Given the description of an element on the screen output the (x, y) to click on. 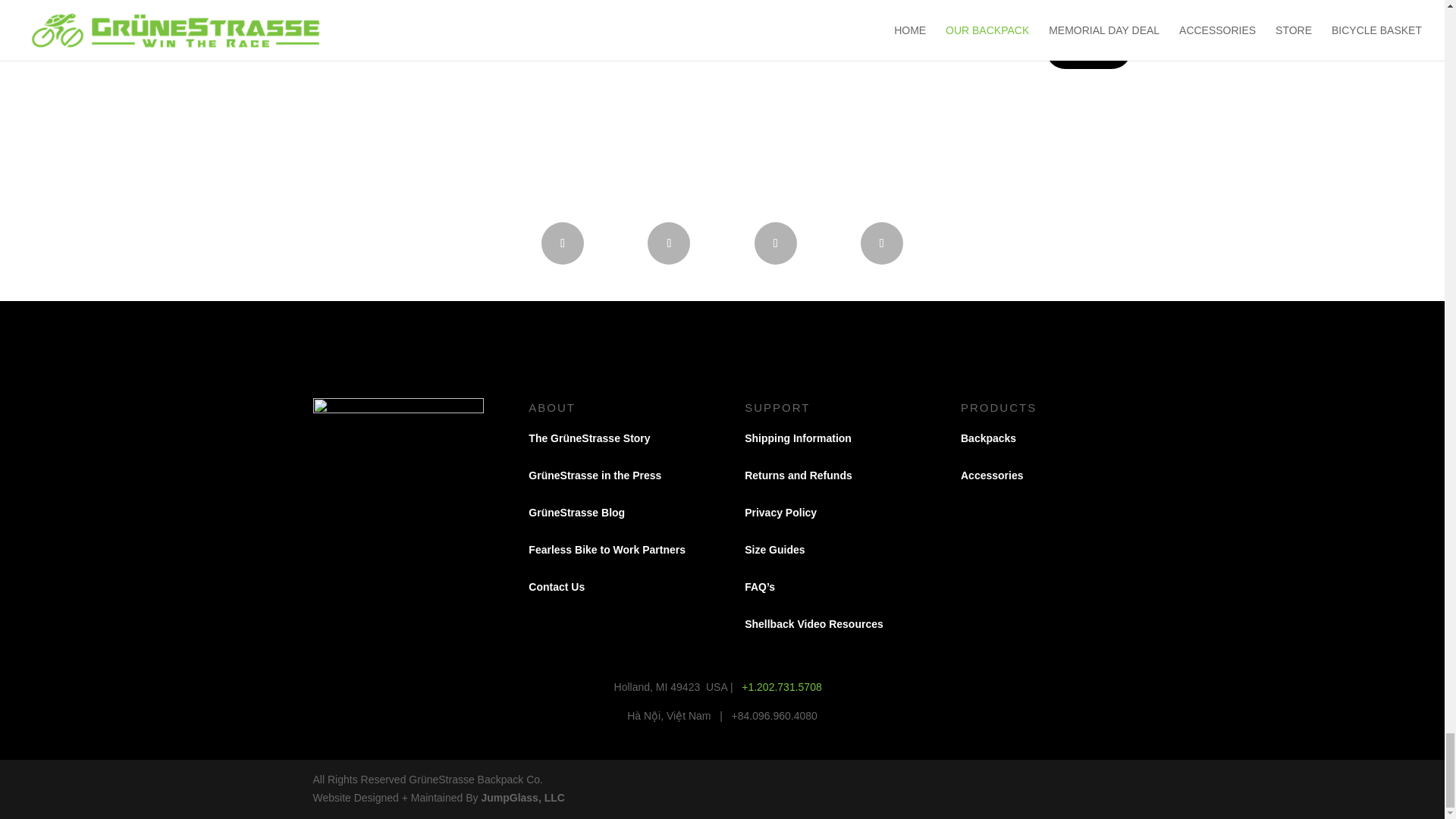
Fearless Bike to Work Partners  (608, 549)
Follow on Youtube (775, 242)
Accessories (991, 475)
Contact Us (556, 586)
Follow on Facebook (562, 242)
Returns and Refunds (797, 475)
Backpacks (988, 438)
Follow on Twitter (881, 242)
SUBMIT (1088, 47)
Follow on Instagram (668, 242)
